Given the description of an element on the screen output the (x, y) to click on. 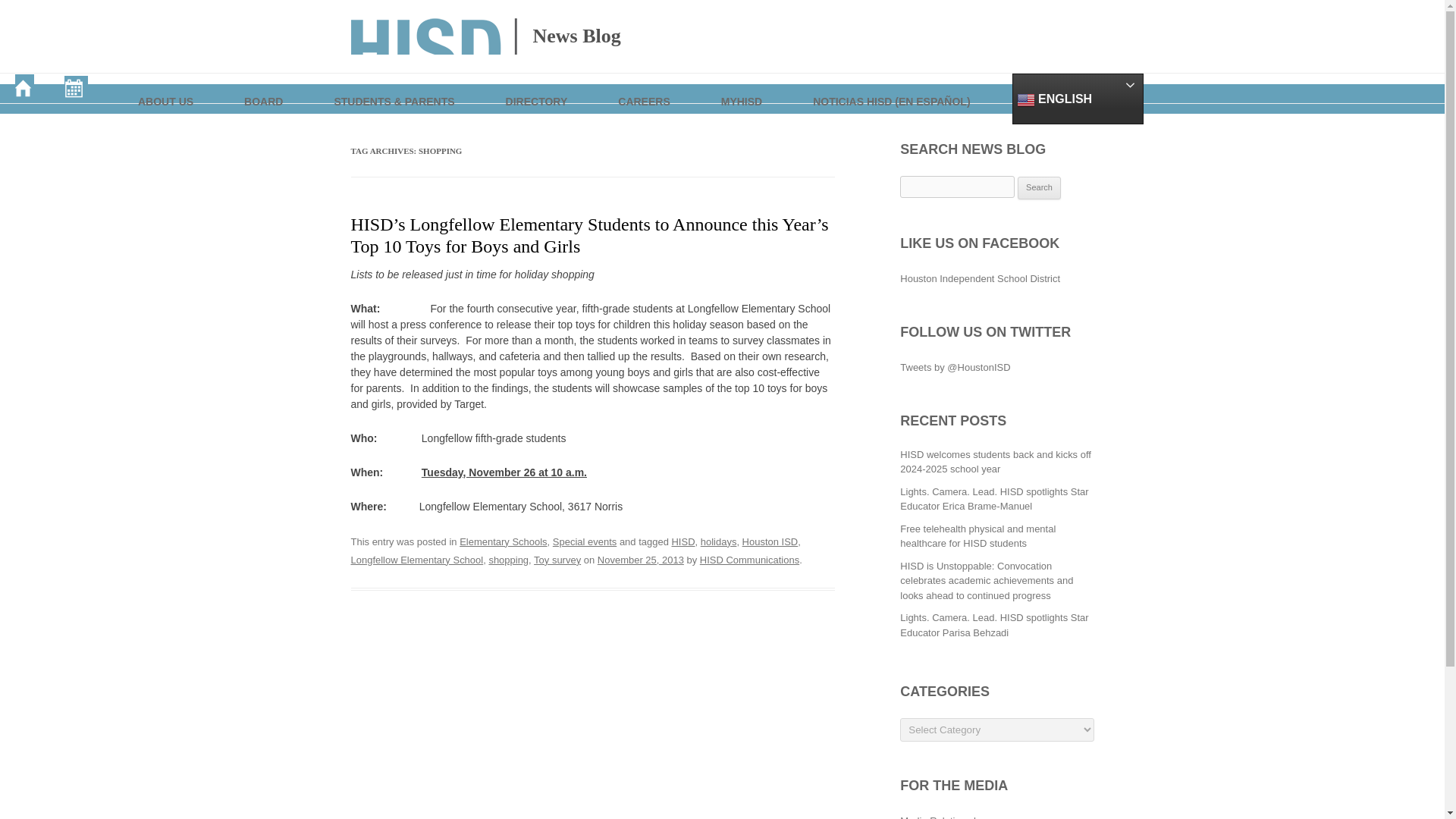
Special events (584, 541)
Elementary Schools (503, 541)
BOARD (264, 88)
Search (1039, 187)
10:42 am (640, 559)
Toy survey (557, 559)
Houston ISD (769, 541)
holidays (718, 541)
